Given the description of an element on the screen output the (x, y) to click on. 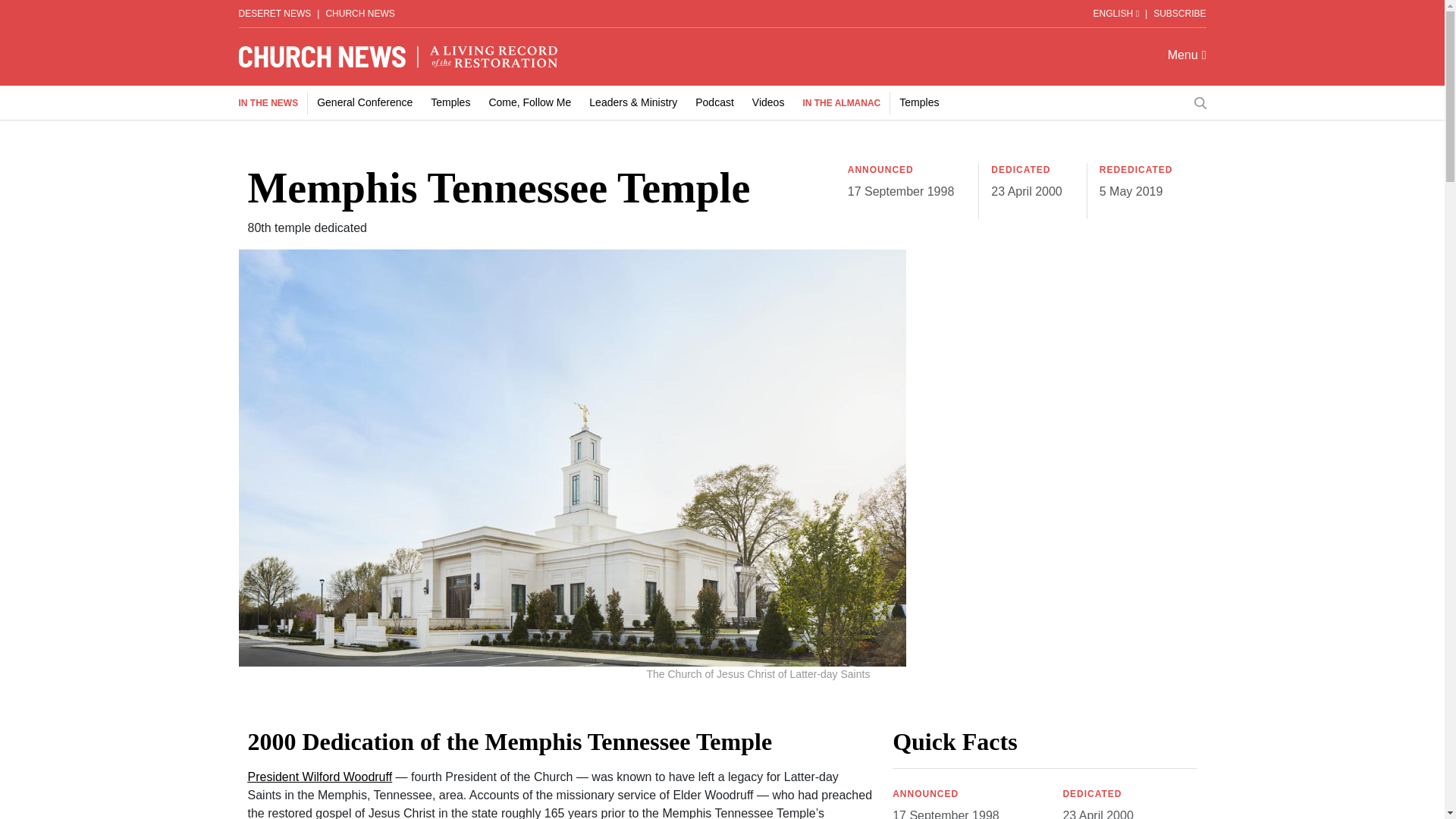
Podcast (714, 102)
Temples (450, 102)
General Conference (364, 102)
President Wilford Woodruff (319, 776)
SUBSCRIBE (1179, 13)
Videos (768, 102)
Temples (919, 102)
Come, Follow Me (528, 102)
CHURCH NEWS (359, 13)
DESERET NEWS (274, 13)
